Given the description of an element on the screen output the (x, y) to click on. 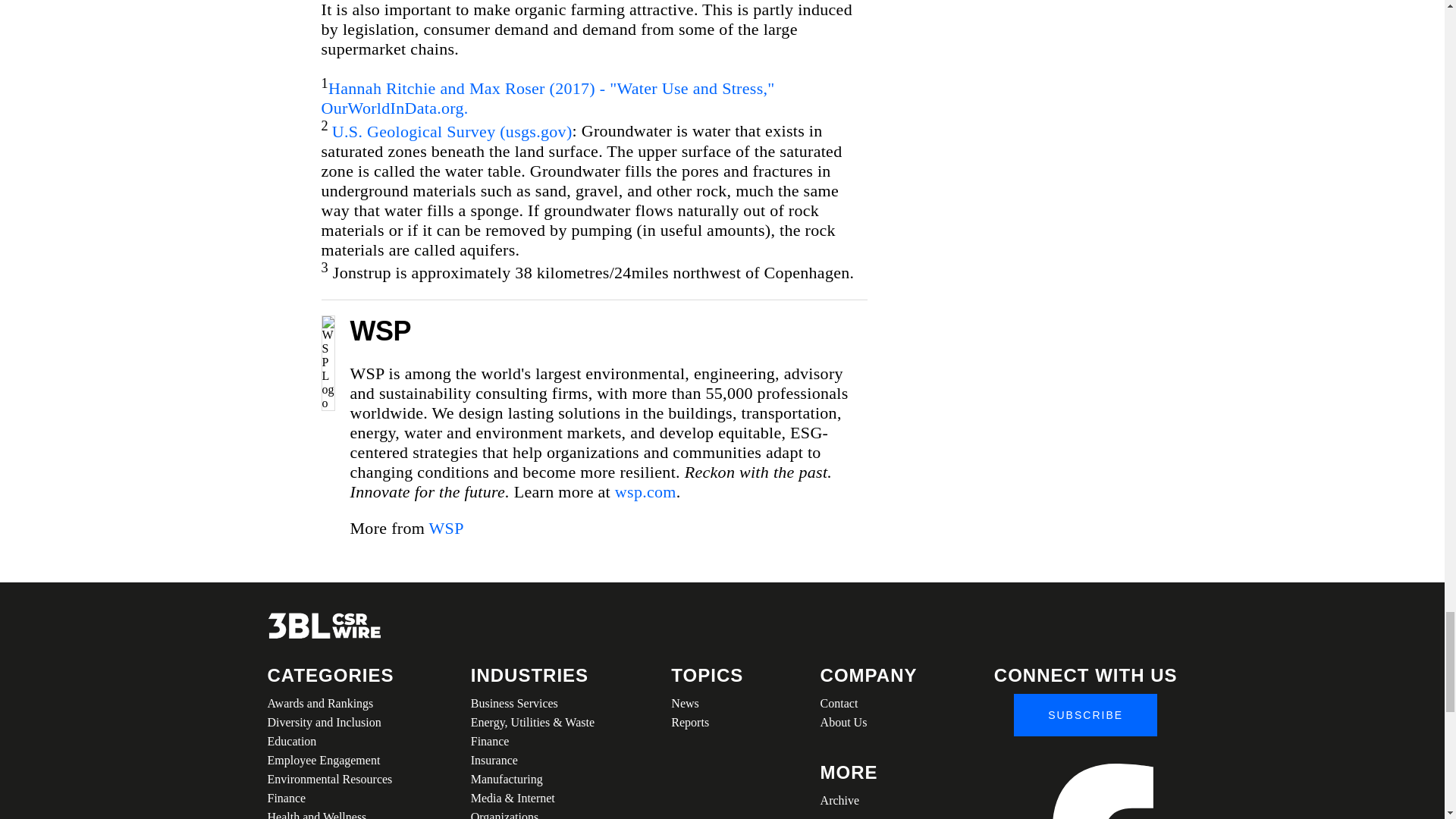
WSP (446, 527)
Awards and Rankings (329, 702)
CATEGORIES (329, 675)
Diversity and Inclusion (329, 722)
Education (329, 741)
wsp.com (645, 491)
Employee Engagement (329, 760)
